Given the description of an element on the screen output the (x, y) to click on. 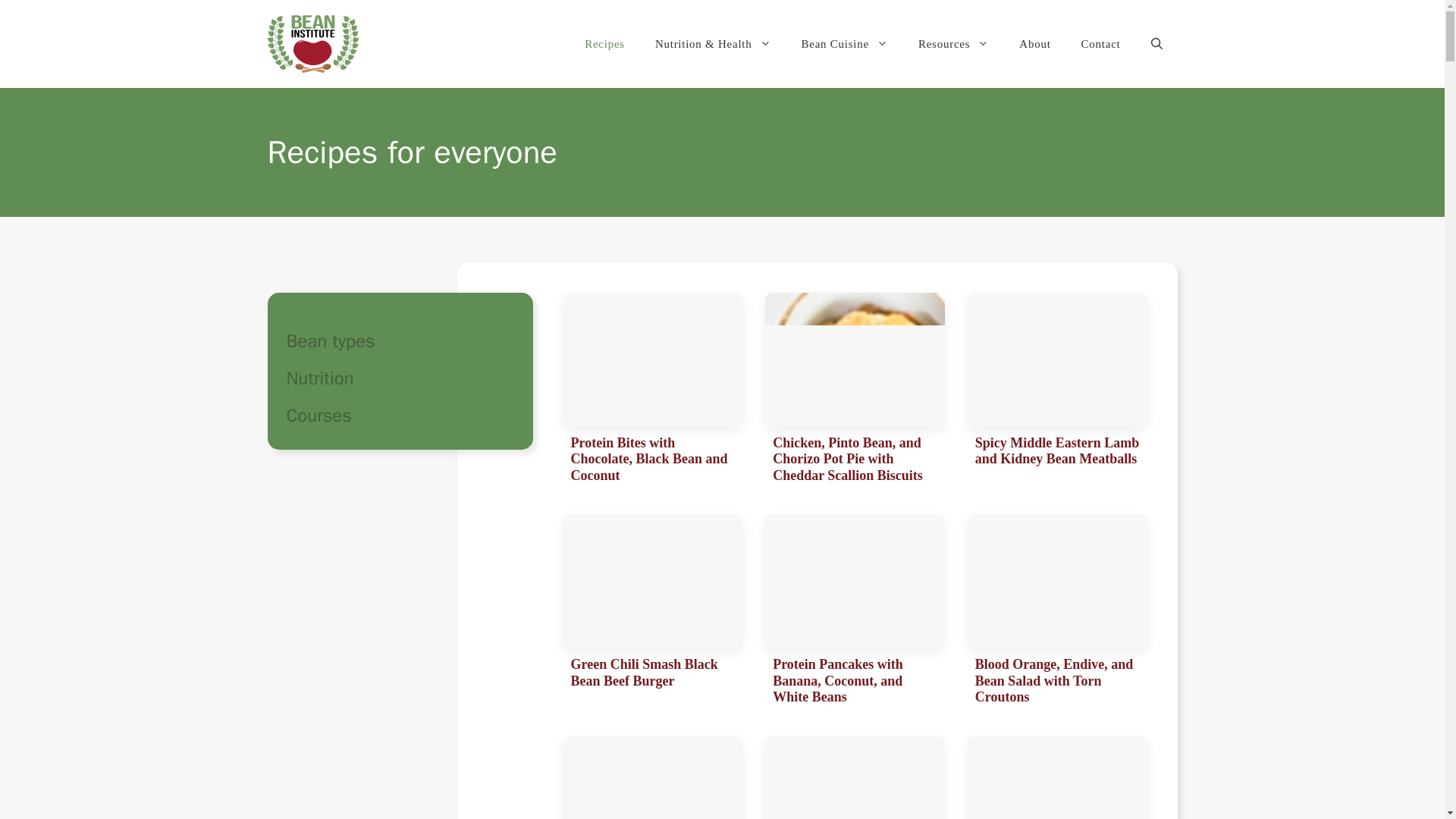
Resources (953, 43)
Spicy Middle Eastern Lamb and Kidney Bean Meatballs (1057, 391)
Bean Cuisine (844, 43)
Green Chili Smash Black Bean Beef Burger (652, 613)
Protein Bites with Chocolate, Black Bean and Coconut (652, 391)
Chocolate Espresso Black Bean Babycakes (854, 777)
Recipes (604, 43)
Blood Orange, Endive, and Bean Salad with Torn Croutons (1057, 613)
Creamy White Bean Alfredo Pasta (1057, 777)
